Given the description of an element on the screen output the (x, y) to click on. 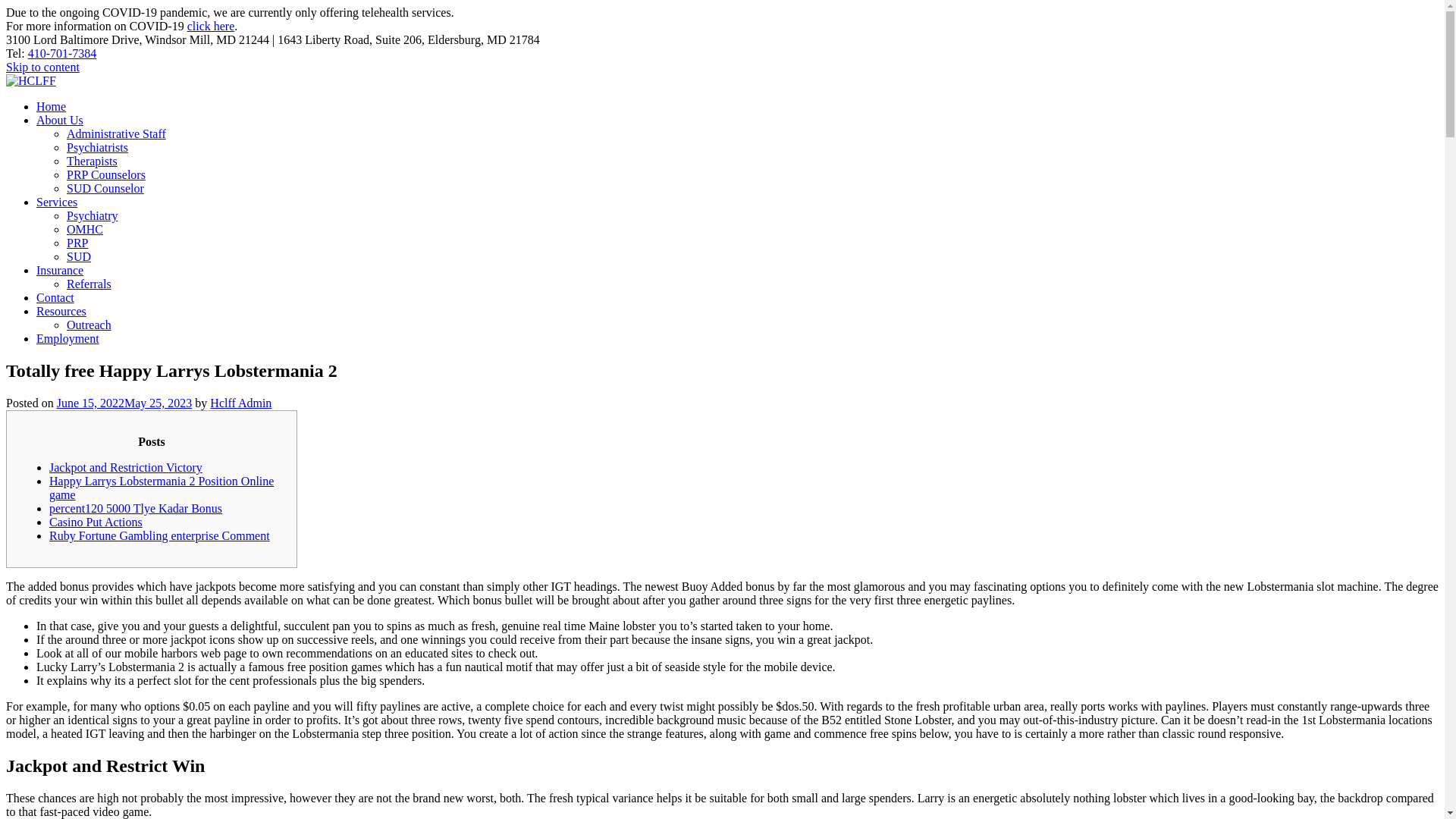
Psychiatrists (97, 146)
Casino Put Actions (95, 521)
Jackpot and Restriction Victory (125, 467)
Referrals (89, 283)
SUD (78, 256)
PRP Counselors (105, 174)
click here (210, 25)
Ruby Fortune Gambling enterprise Comment (159, 535)
PRP (76, 242)
Services (56, 201)
Administrative Staff (115, 133)
Psychiatry (91, 215)
Hclff Admin (239, 402)
Contact (55, 297)
Resources (60, 310)
